Given the description of an element on the screen output the (x, y) to click on. 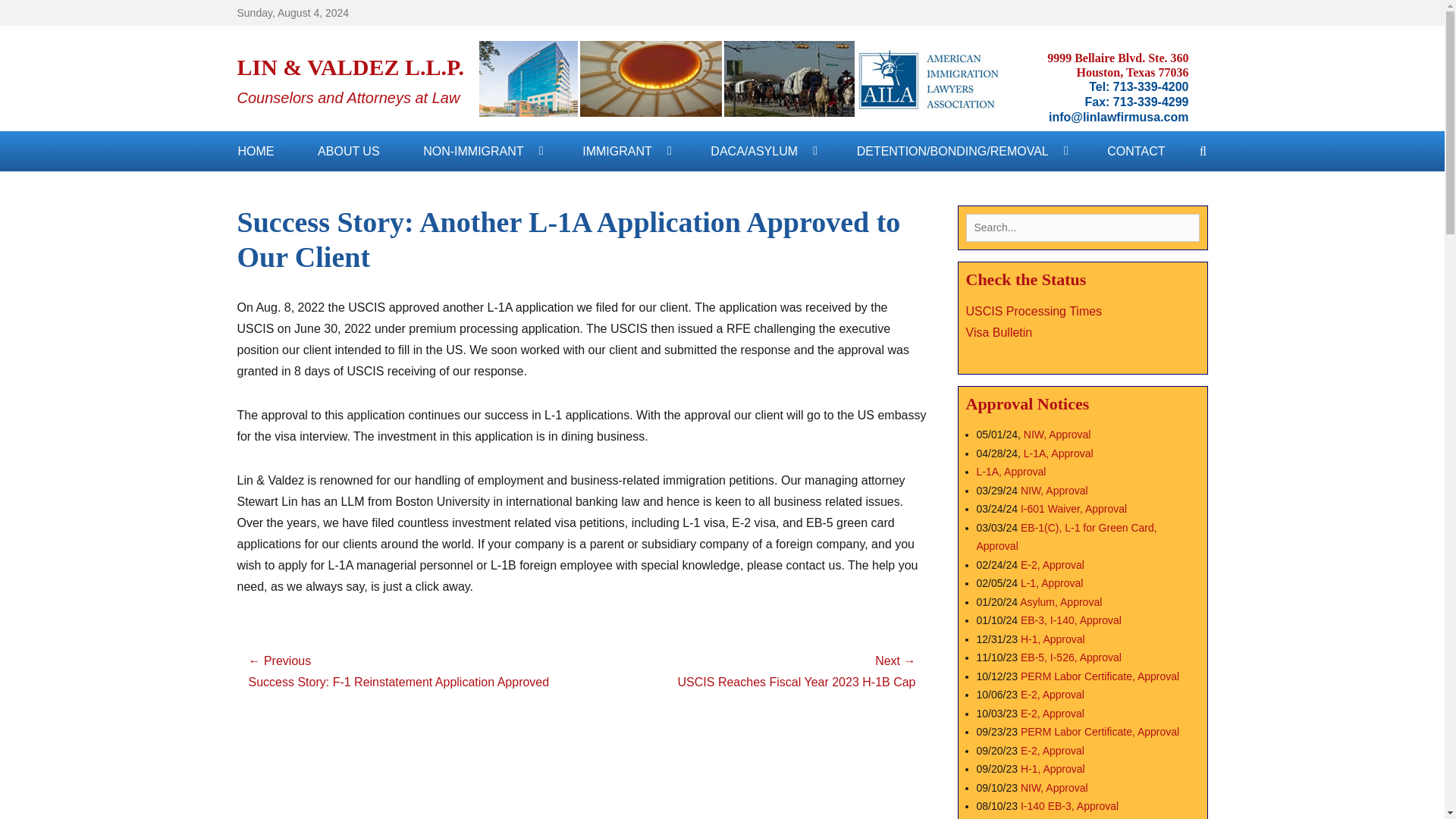
HOME (255, 151)
IMMIGRANT (624, 151)
CONTACT (1135, 151)
ABOUT US (348, 151)
Search for: (1082, 227)
NON-IMMIGRANT (480, 151)
